Given the description of an element on the screen output the (x, y) to click on. 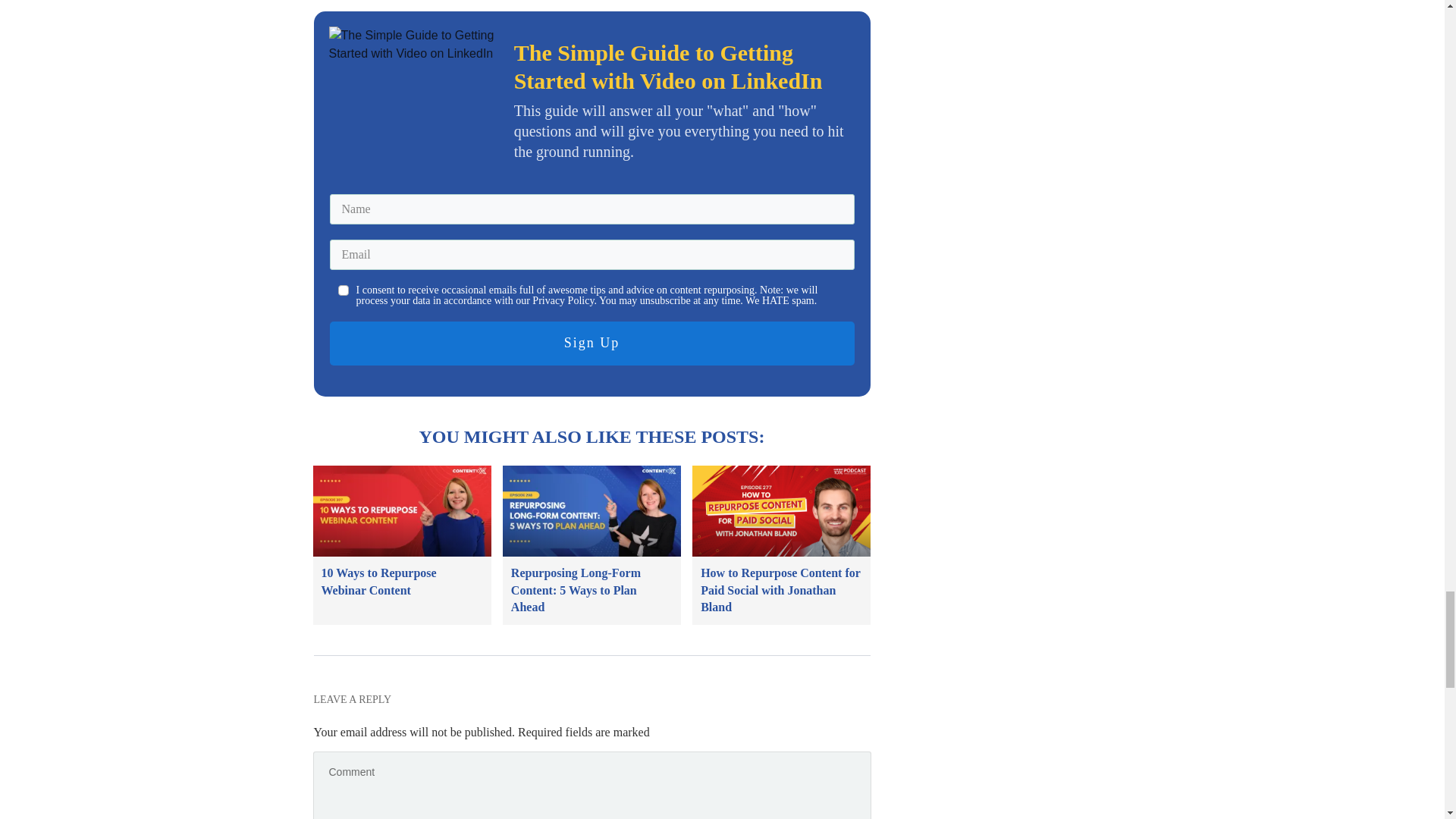
10 Ways to Repurpose Webinar Content (378, 581)
Sign Up (591, 343)
Repurposing Long-Form Content: 5 Ways to Plan Ahead (575, 589)
The Simple Guide to Getting Started with Video on LinkedIn (414, 98)
Repurposing Long-Form Content: 5 Ways to Plan Ahead (575, 589)
10 Ways to Repurpose Webinar Content (378, 581)
How to Repurpose Content for Paid Social with Jonathan Bland (780, 589)
